Given the description of an element on the screen output the (x, y) to click on. 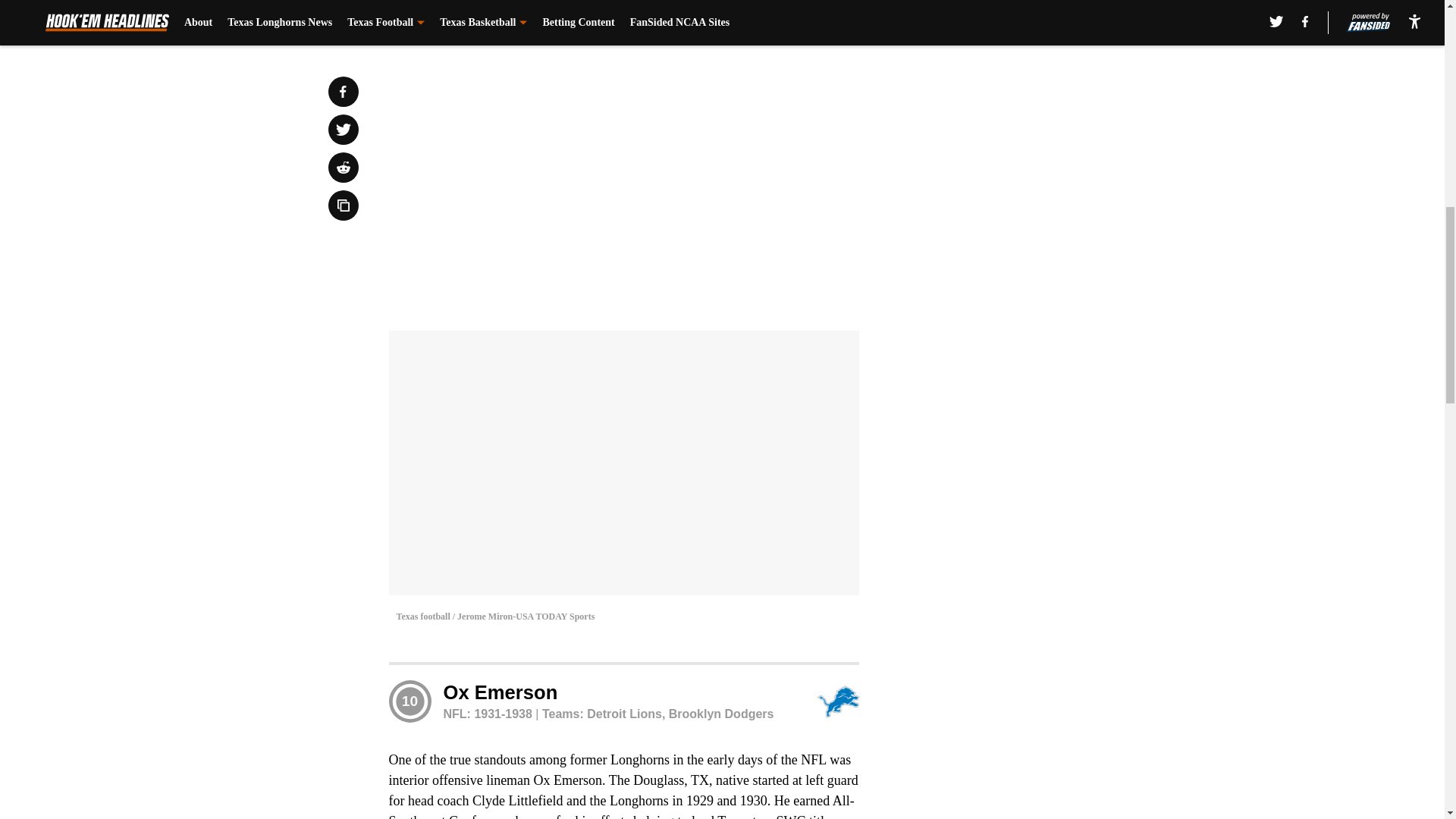
Prev (433, 20)
Next (813, 20)
